Given the description of an element on the screen output the (x, y) to click on. 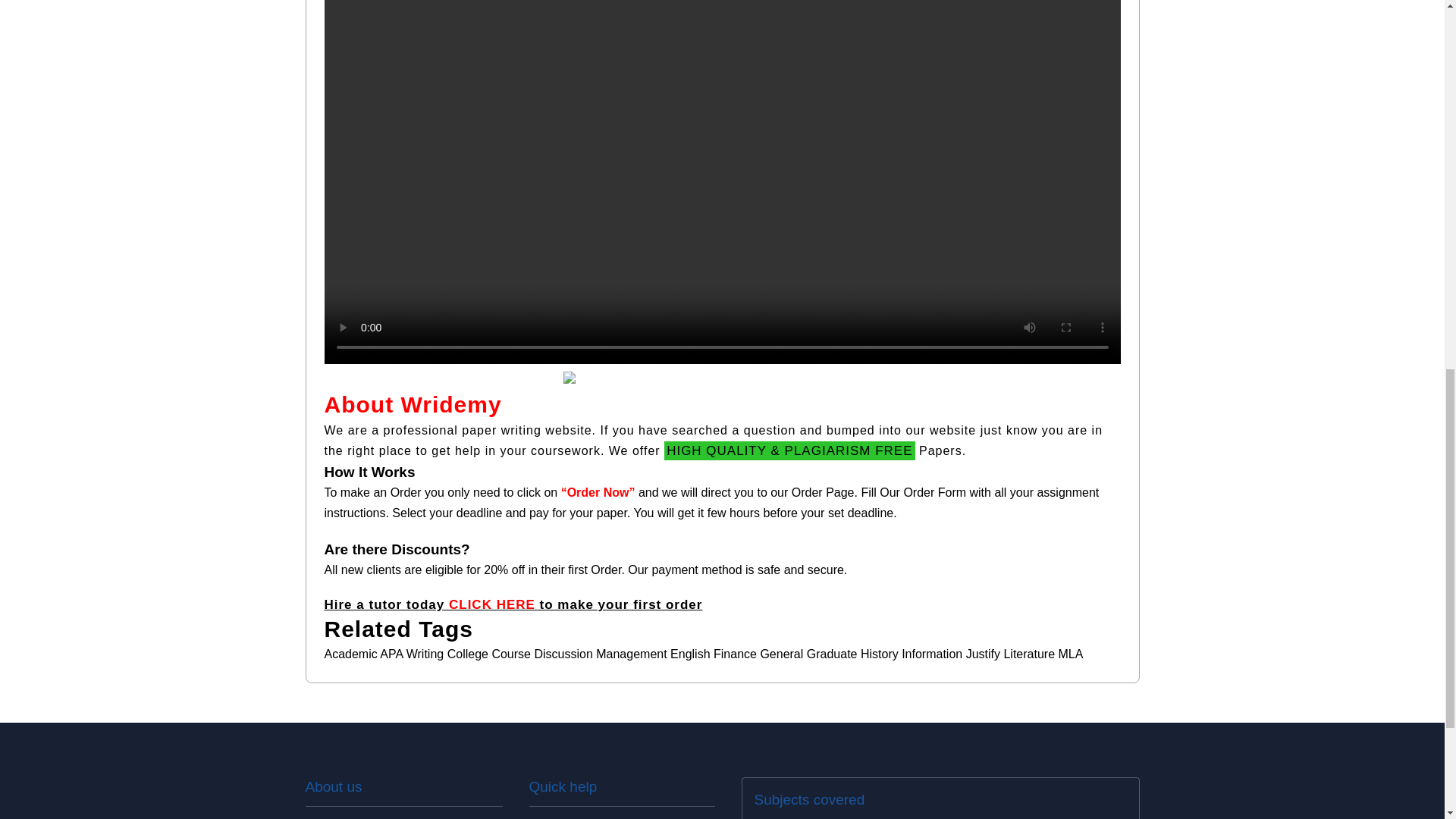
Course (511, 653)
Academic (350, 653)
Hire a tutor today CLICK HERE to make your first order (513, 604)
Writing (425, 653)
Information (931, 653)
English (689, 653)
Management (630, 653)
Graduate (831, 653)
Finance (735, 653)
Literature (1028, 653)
